Given the description of an element on the screen output the (x, y) to click on. 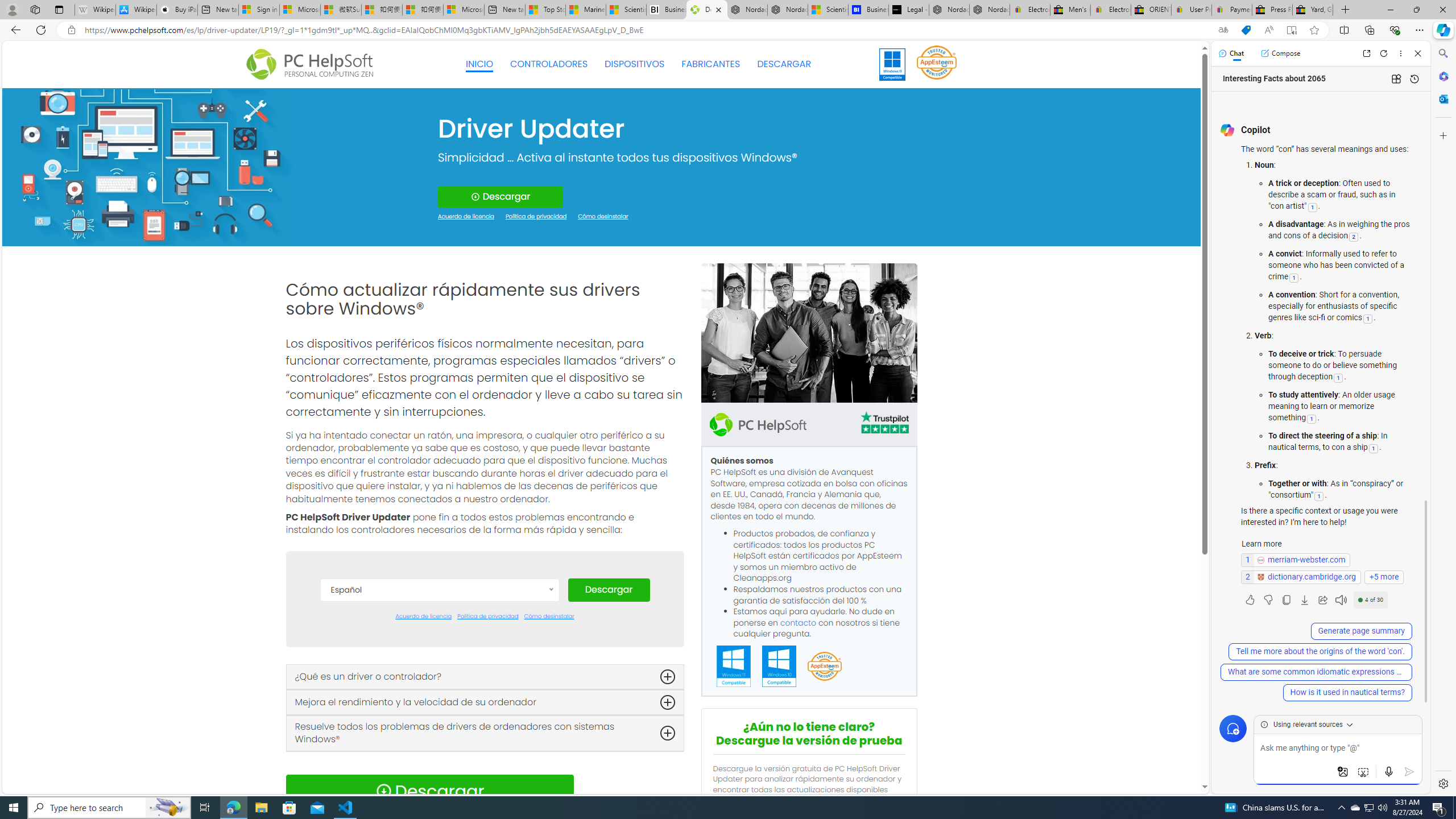
English (439, 695)
TrustPilot (884, 424)
App Esteem (823, 666)
Compose (1280, 52)
INICIO (479, 64)
team (808, 332)
